Given the description of an element on the screen output the (x, y) to click on. 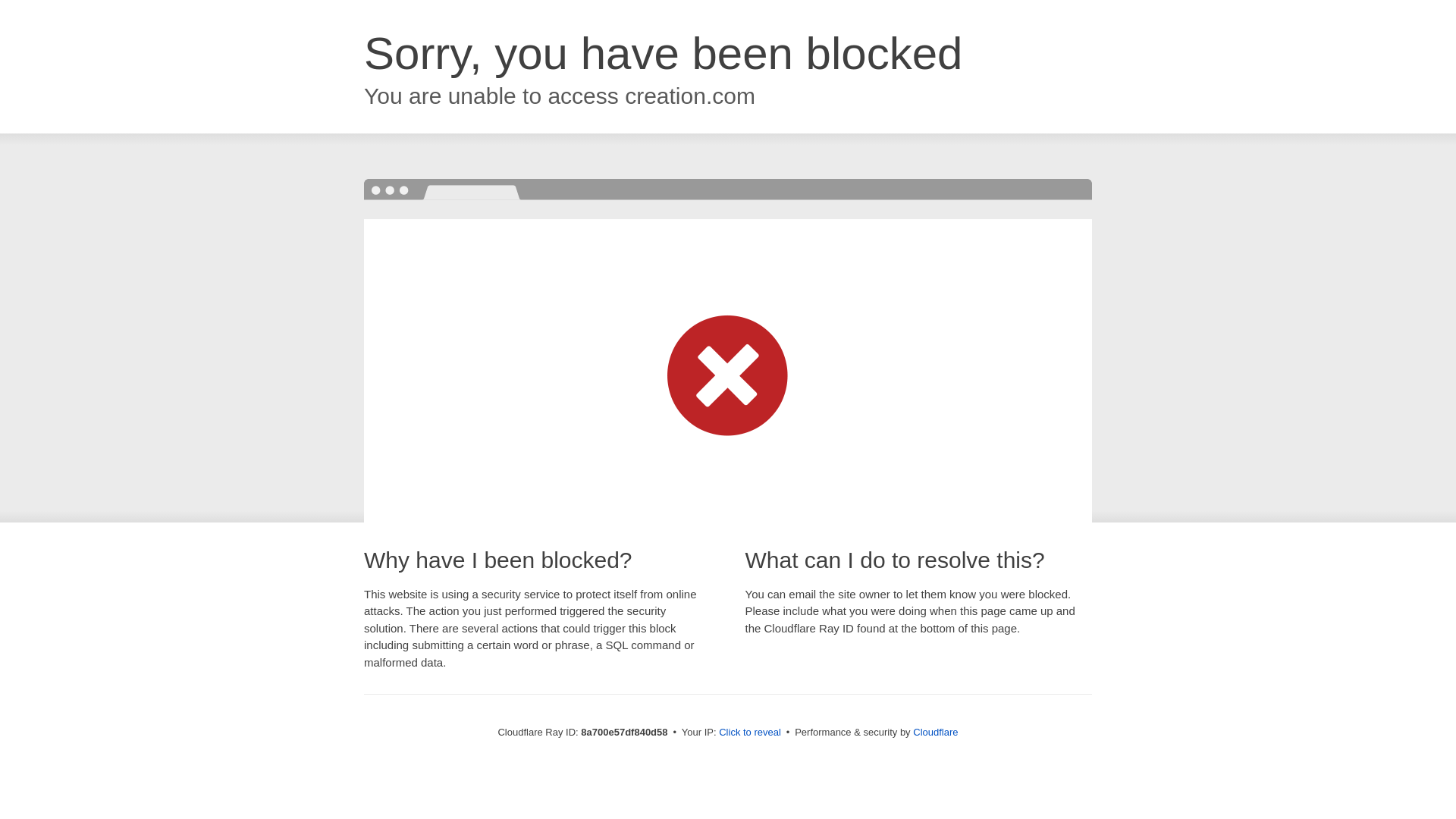
Click to reveal (749, 732)
Cloudflare (935, 731)
